Given the description of an element on the screen output the (x, y) to click on. 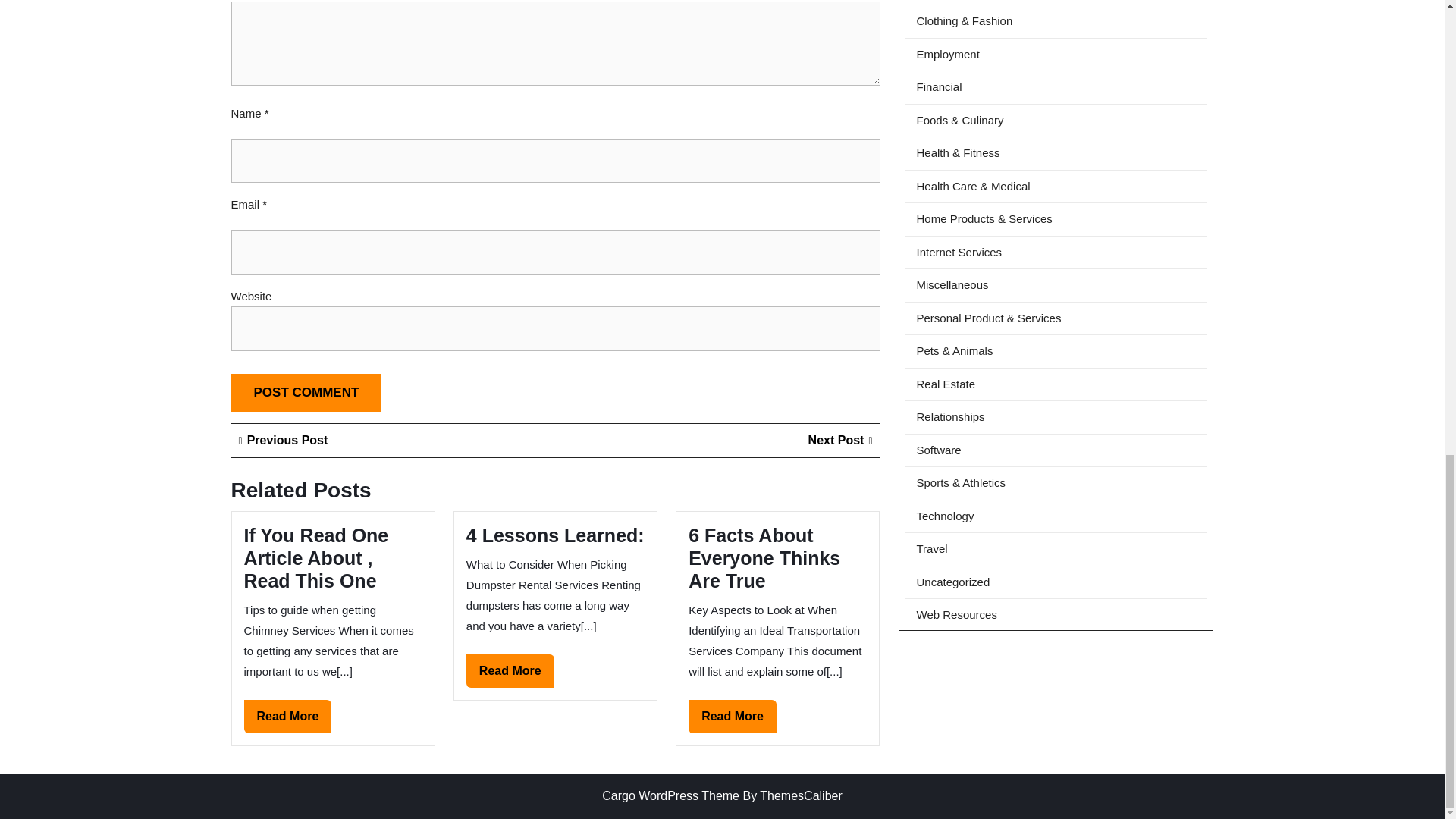
4 Lessons Learned: (555, 535)
Post Comment (509, 670)
If You Read One Article About , Read This One (305, 392)
6 Facts About Everyone Thinks Are True (287, 716)
Post Comment (316, 557)
